Given the description of an element on the screen output the (x, y) to click on. 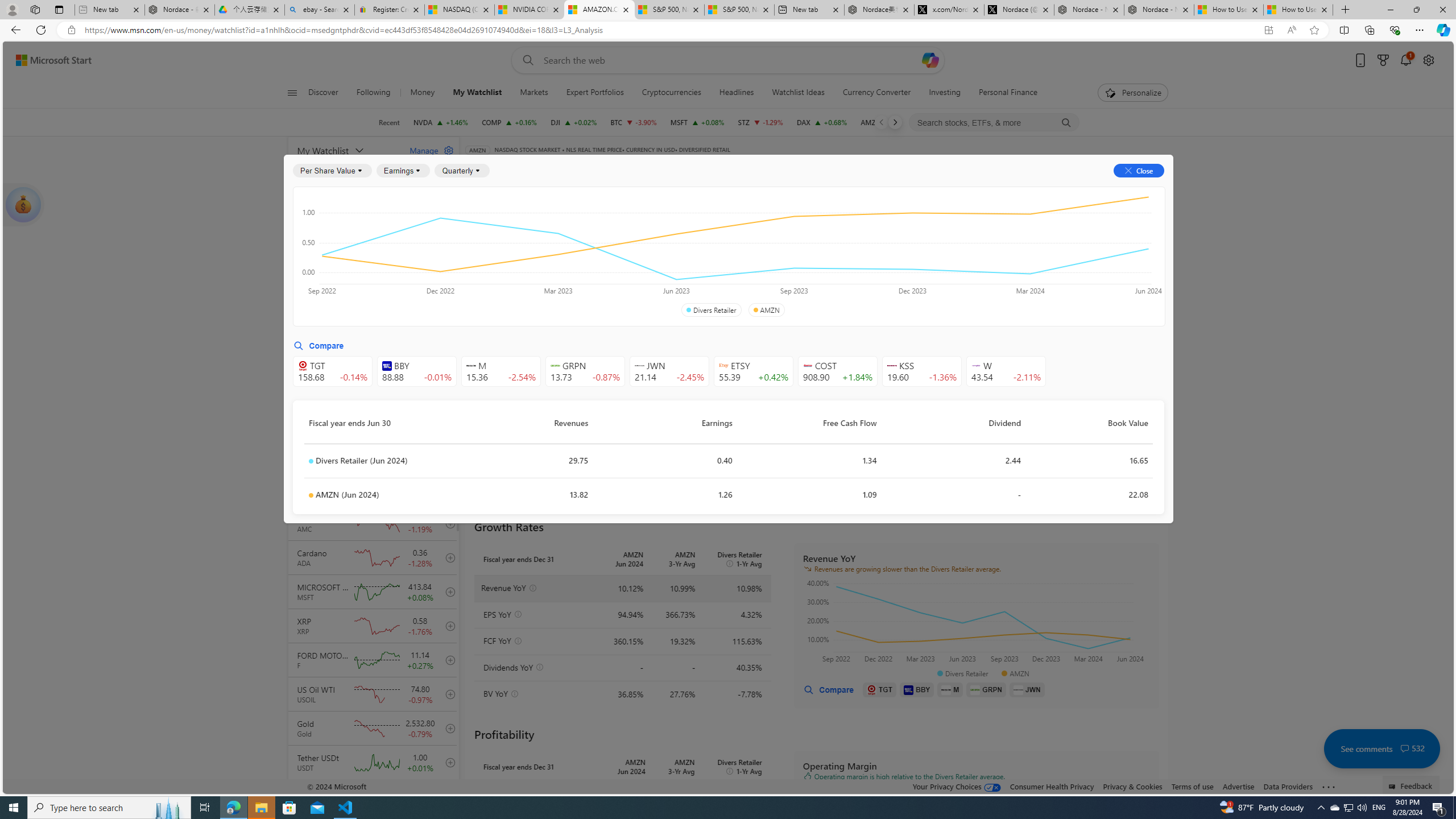
View site information (70, 29)
Manage (427, 150)
Search stocks, ETFs, & more (995, 122)
Annual (491, 286)
Financials (846, 188)
x.com/NordaceOfficial (949, 9)
Settings and more (Alt+F) (1419, 29)
Restore (1416, 9)
Currency Converter (877, 92)
DAX DAX increase 18,808.50 +126.69 +0.68% (821, 122)
Growth Rates (602, 253)
Browser essentials (1394, 29)
